Given the description of an element on the screen output the (x, y) to click on. 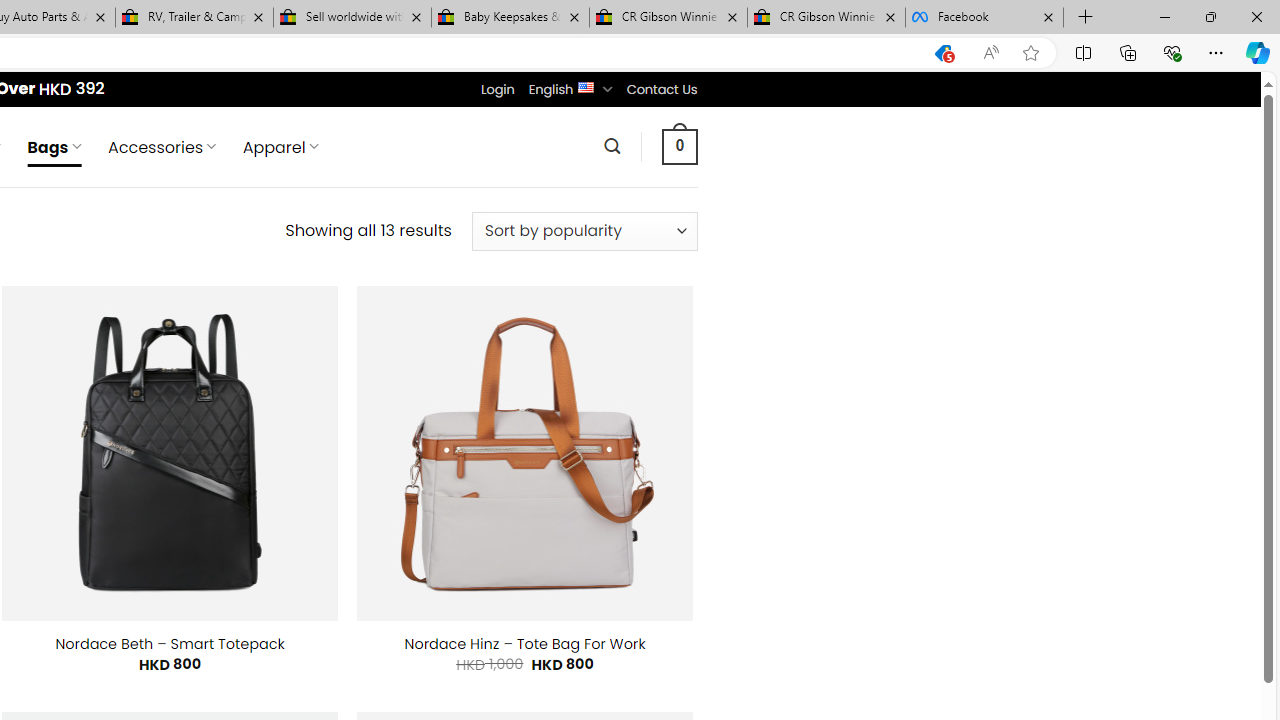
 0  (679, 146)
Shop order (584, 231)
